Given the description of an element on the screen output the (x, y) to click on. 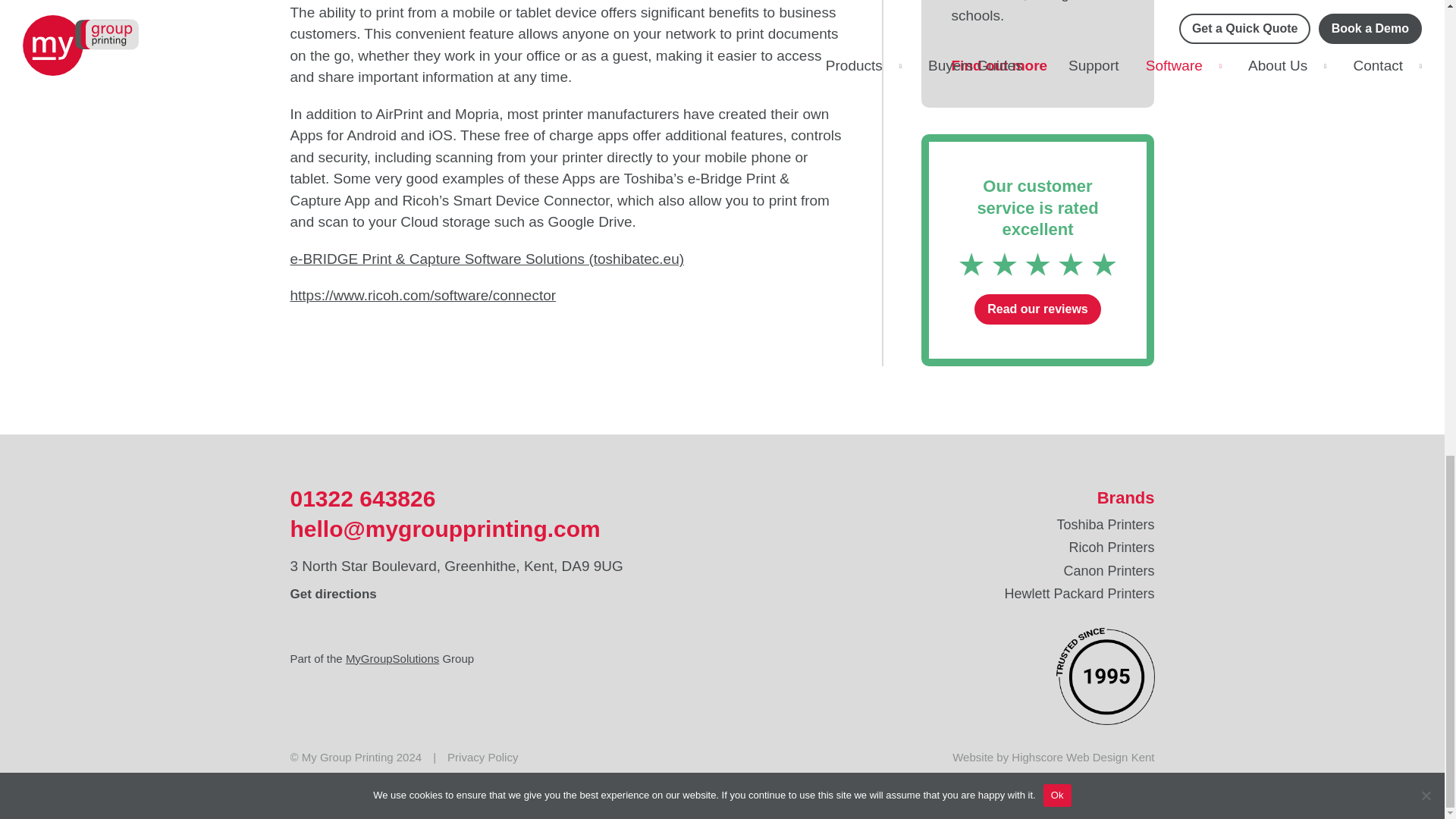
Web Design Kent (1109, 757)
